Given the description of an element on the screen output the (x, y) to click on. 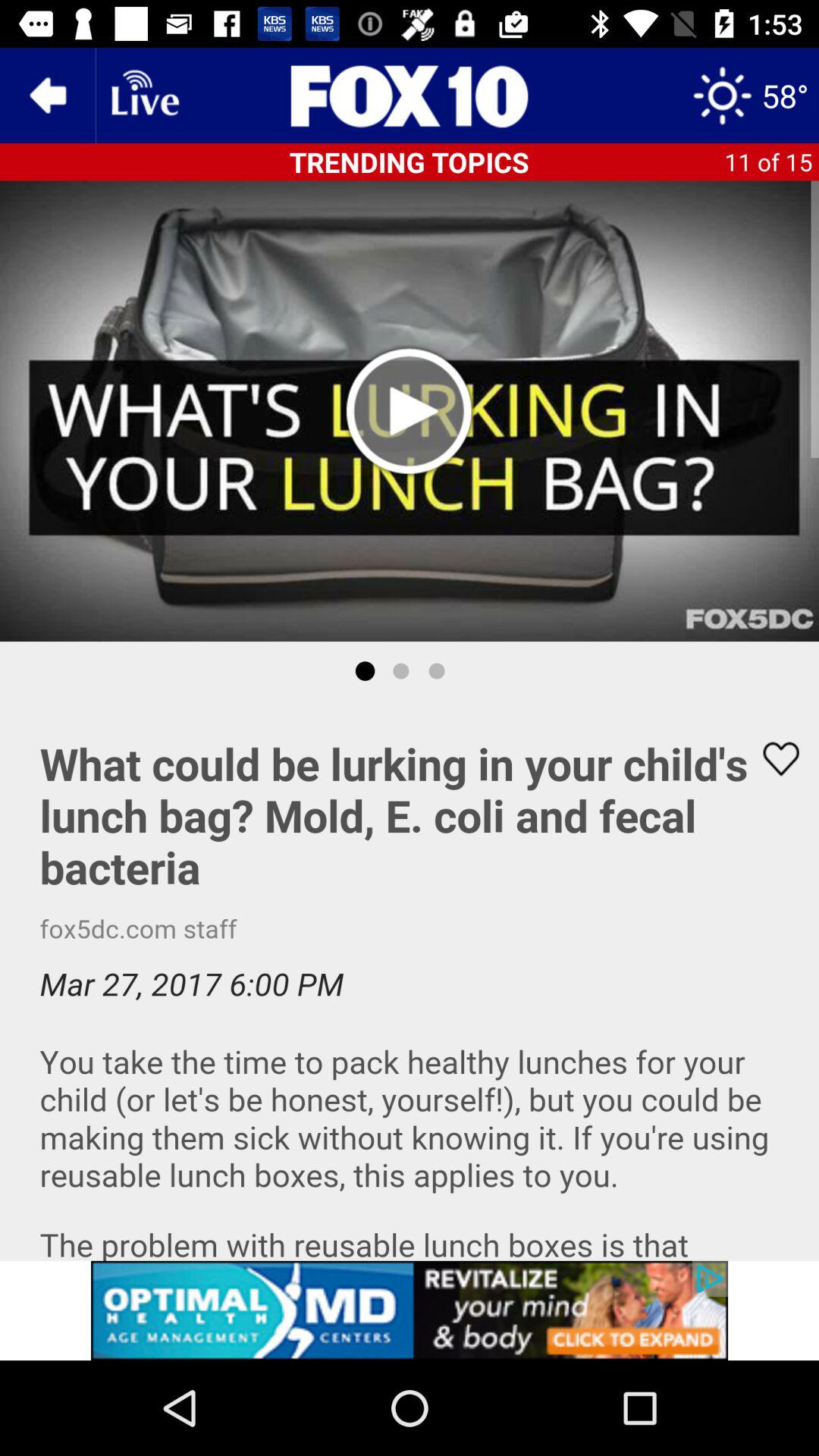
select article (409, 980)
